Given the description of an element on the screen output the (x, y) to click on. 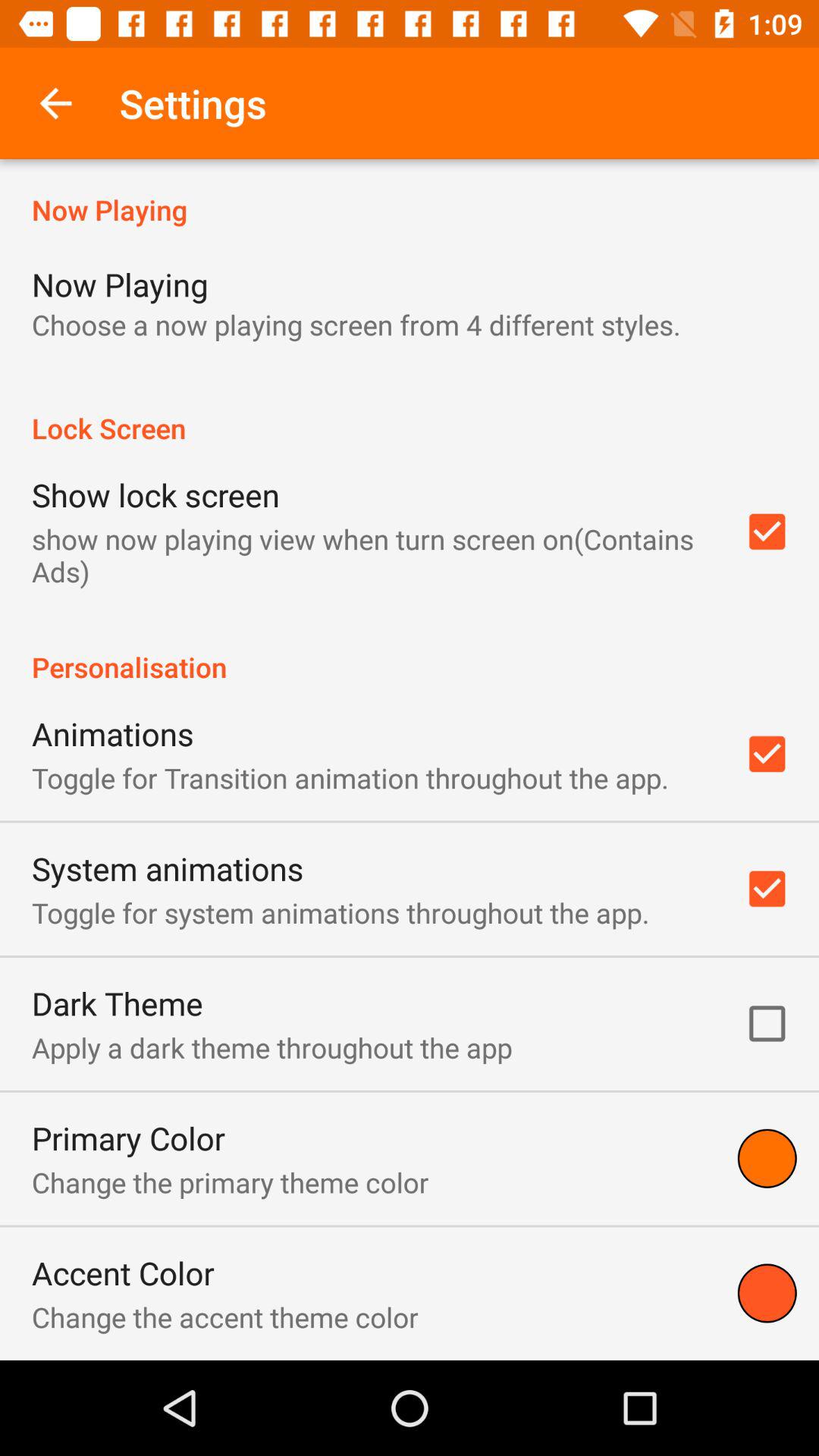
open the icon above the primary color item (271, 1047)
